Given the description of an element on the screen output the (x, y) to click on. 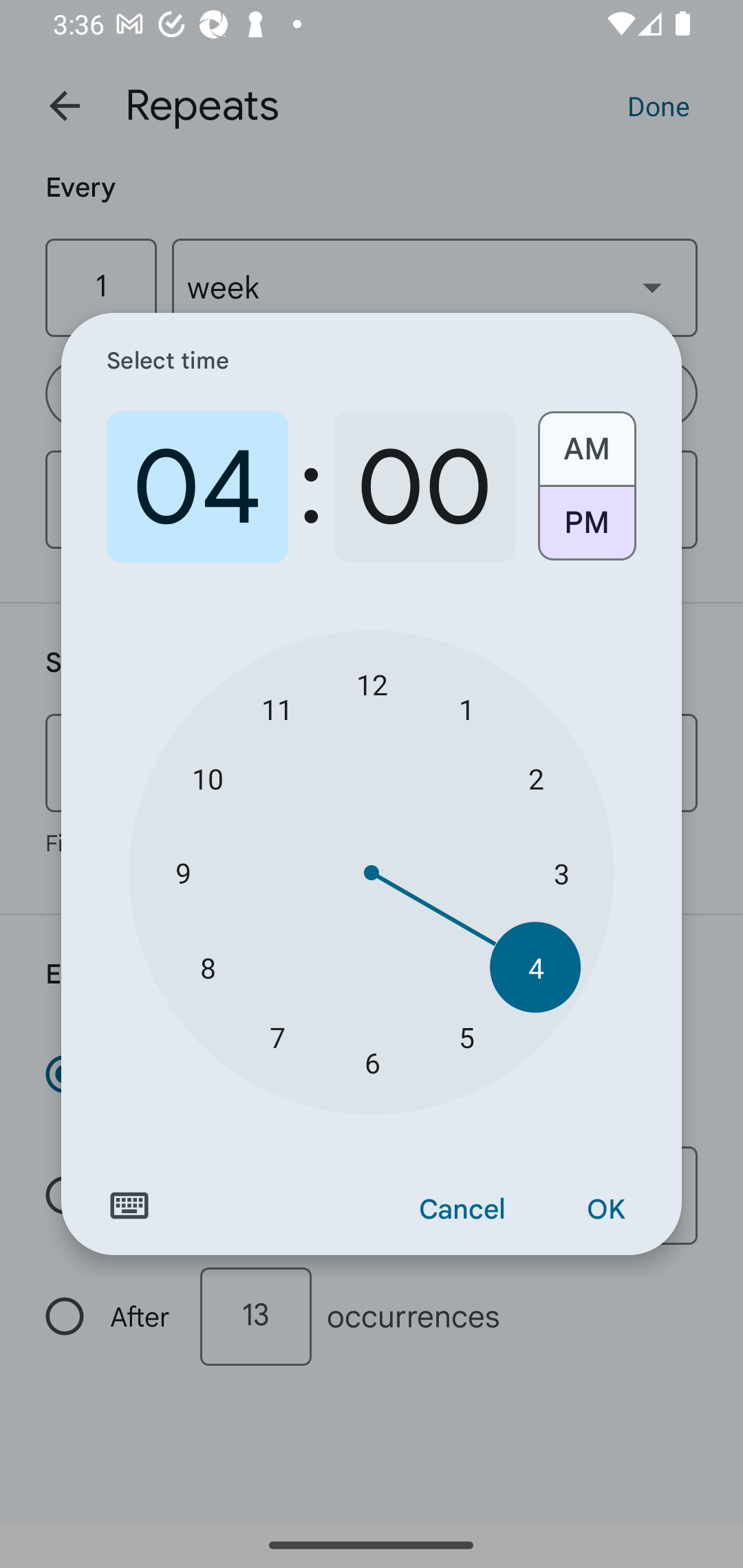
AM (586, 441)
04 4 o'clock (197, 486)
00 0 minutes (424, 486)
PM (586, 529)
12 12 o'clock (371, 683)
11 11 o'clock (276, 708)
1 1 o'clock (466, 708)
10 10 o'clock (207, 778)
2 2 o'clock (535, 778)
9 9 o'clock (182, 872)
3 3 o'clock (561, 872)
8 8 o'clock (207, 966)
4 4 o'clock (535, 966)
7 7 o'clock (276, 1035)
5 5 o'clock (466, 1035)
6 6 o'clock (371, 1062)
Switch to text input mode for the time input. (128, 1205)
Cancel (462, 1209)
OK (605, 1209)
